Given the description of an element on the screen output the (x, y) to click on. 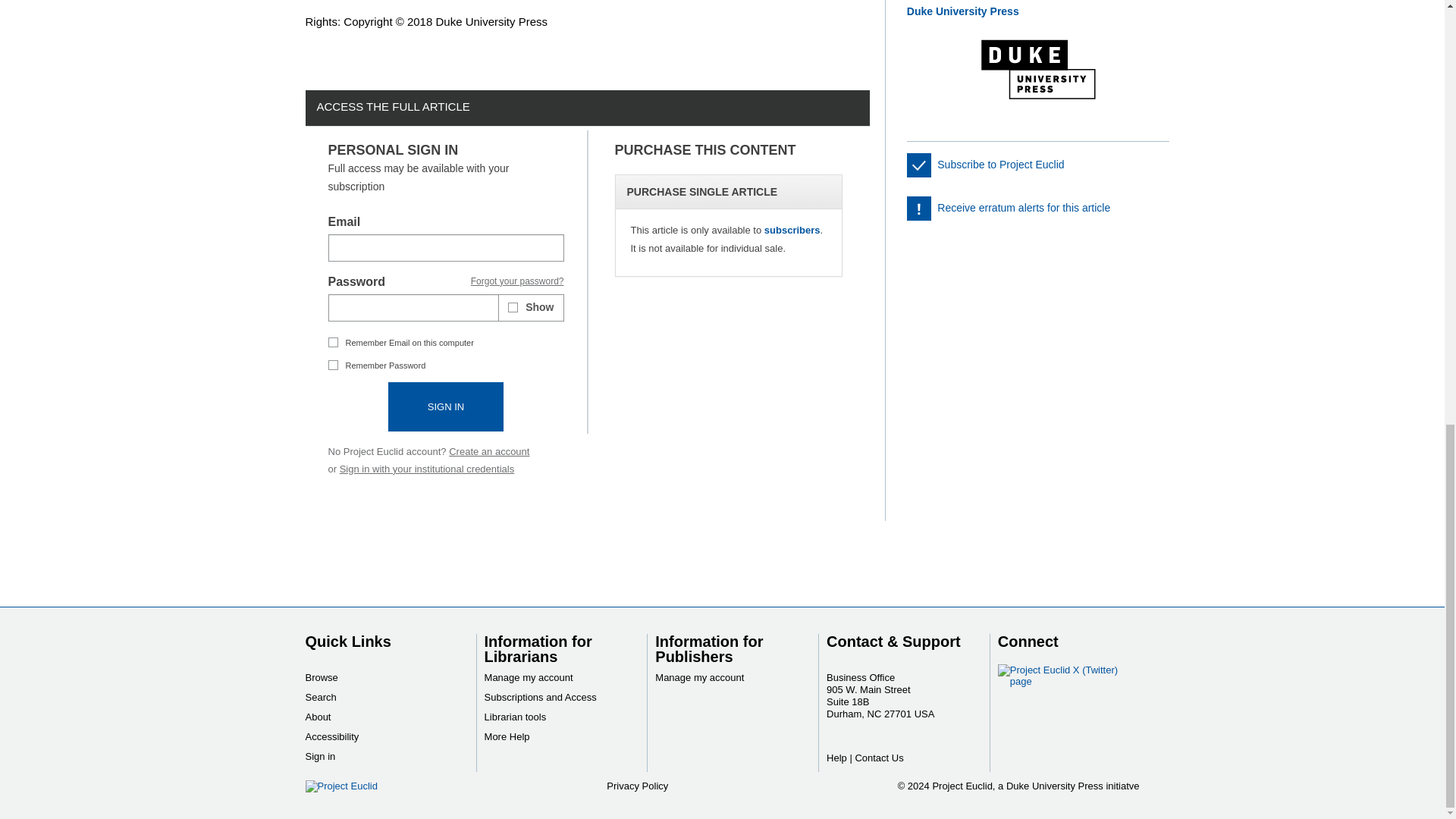
SIGN IN (445, 406)
